Given the description of an element on the screen output the (x, y) to click on. 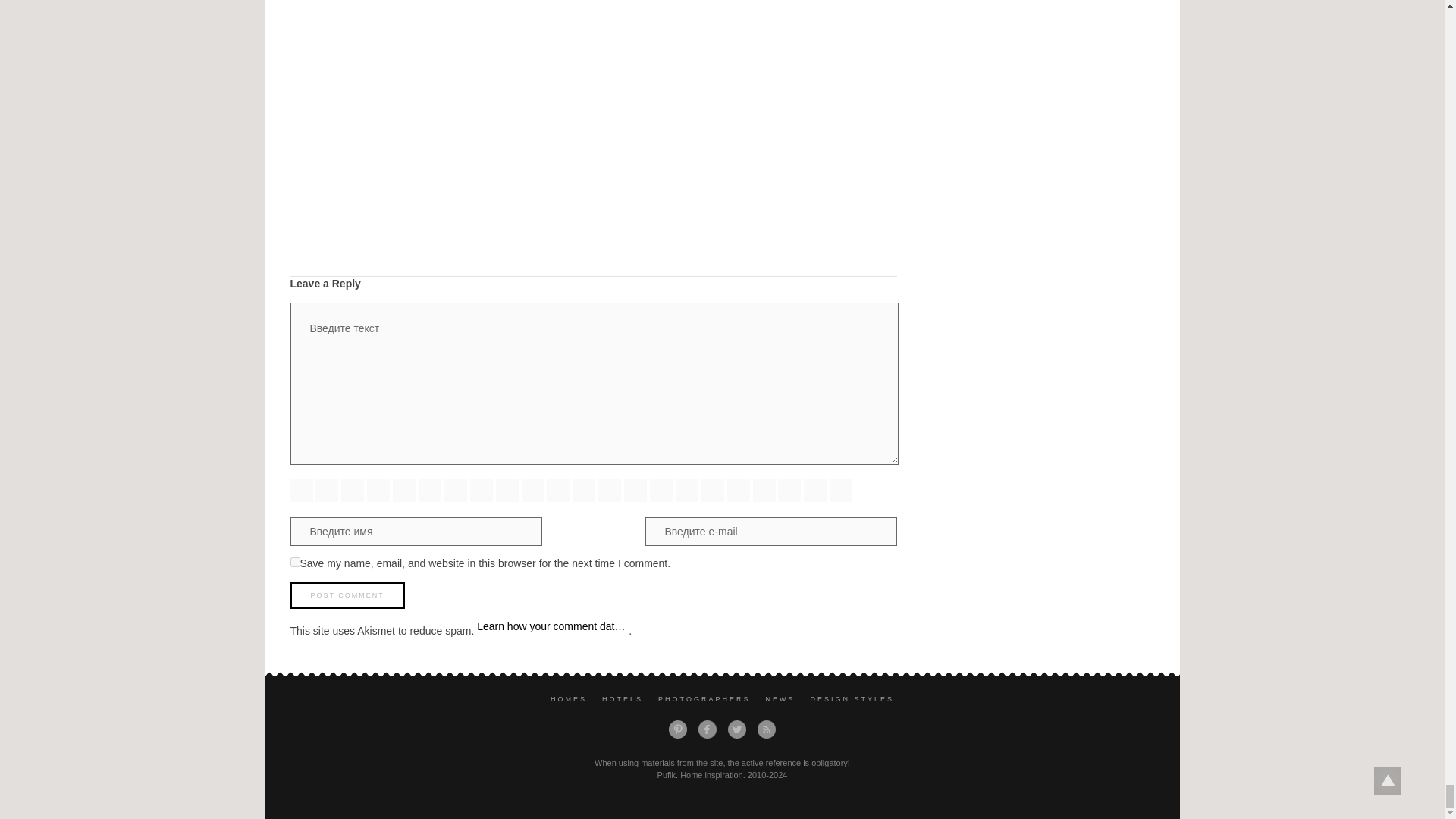
Post Comment (346, 595)
yes (294, 562)
